Given the description of an element on the screen output the (x, y) to click on. 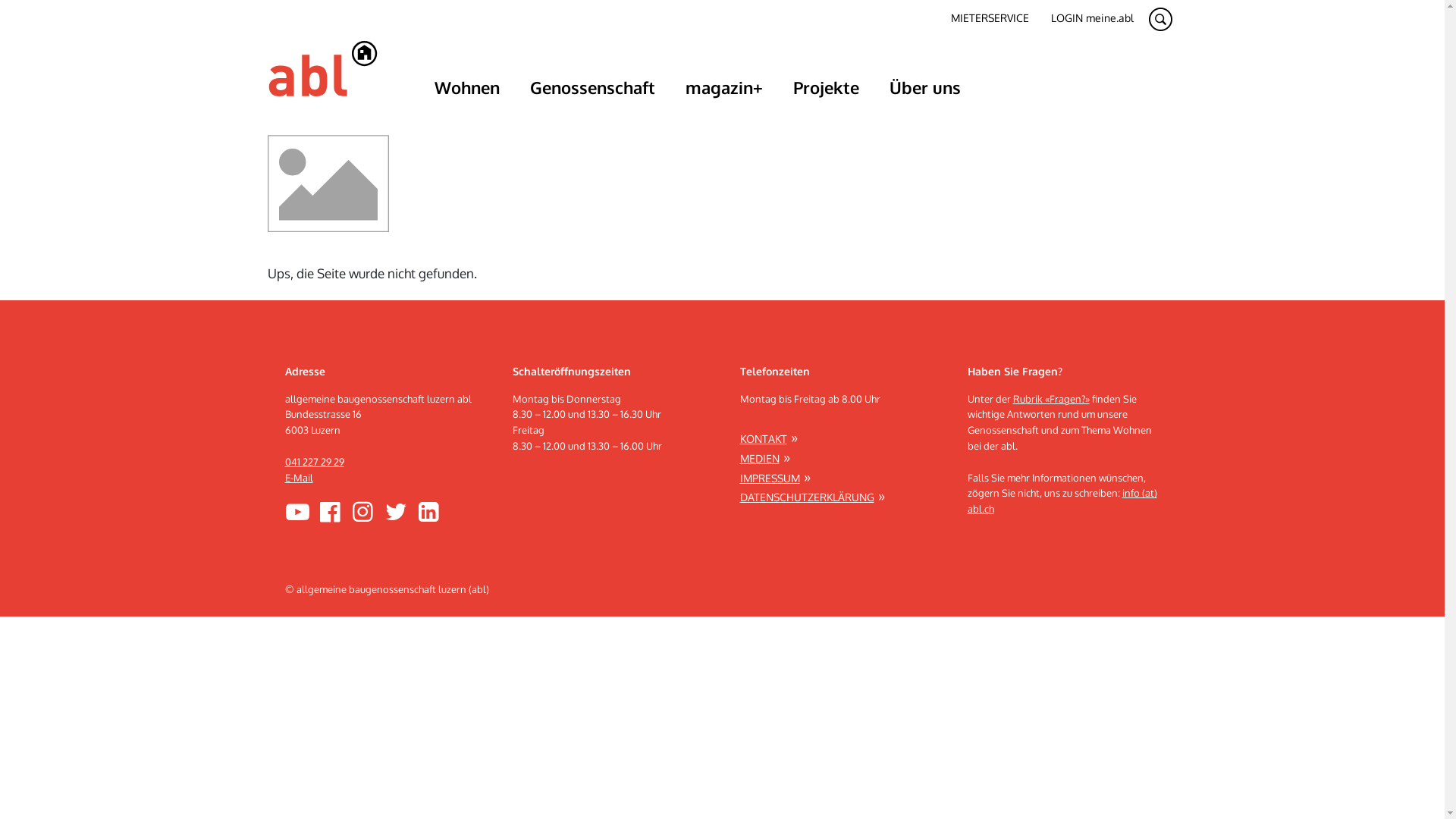
Projekte Element type: text (826, 86)
info (at) abl.ch Element type: text (1062, 500)
Wohnen Element type: text (466, 86)
LinkedIn Element type: text (428, 510)
YouTube Element type: text (296, 510)
IMPRESSUM Element type: text (775, 478)
MEDIEN Element type: text (765, 458)
Home Element type: hover (321, 68)
Twitter Element type: text (395, 510)
SUCHEN Element type: text (1160, 17)
Genossenschaft Element type: text (591, 86)
Facebook Element type: text (329, 510)
LOGIN meine.abl Element type: text (1092, 17)
KONTAKT Element type: text (768, 438)
E-Mail Element type: text (299, 477)
041 227 29 29 Element type: text (314, 461)
MIETERSERVICE Element type: text (989, 17)
Instagram Element type: text (362, 510)
magazin+ Element type: text (724, 86)
